Given the description of an element on the screen output the (x, y) to click on. 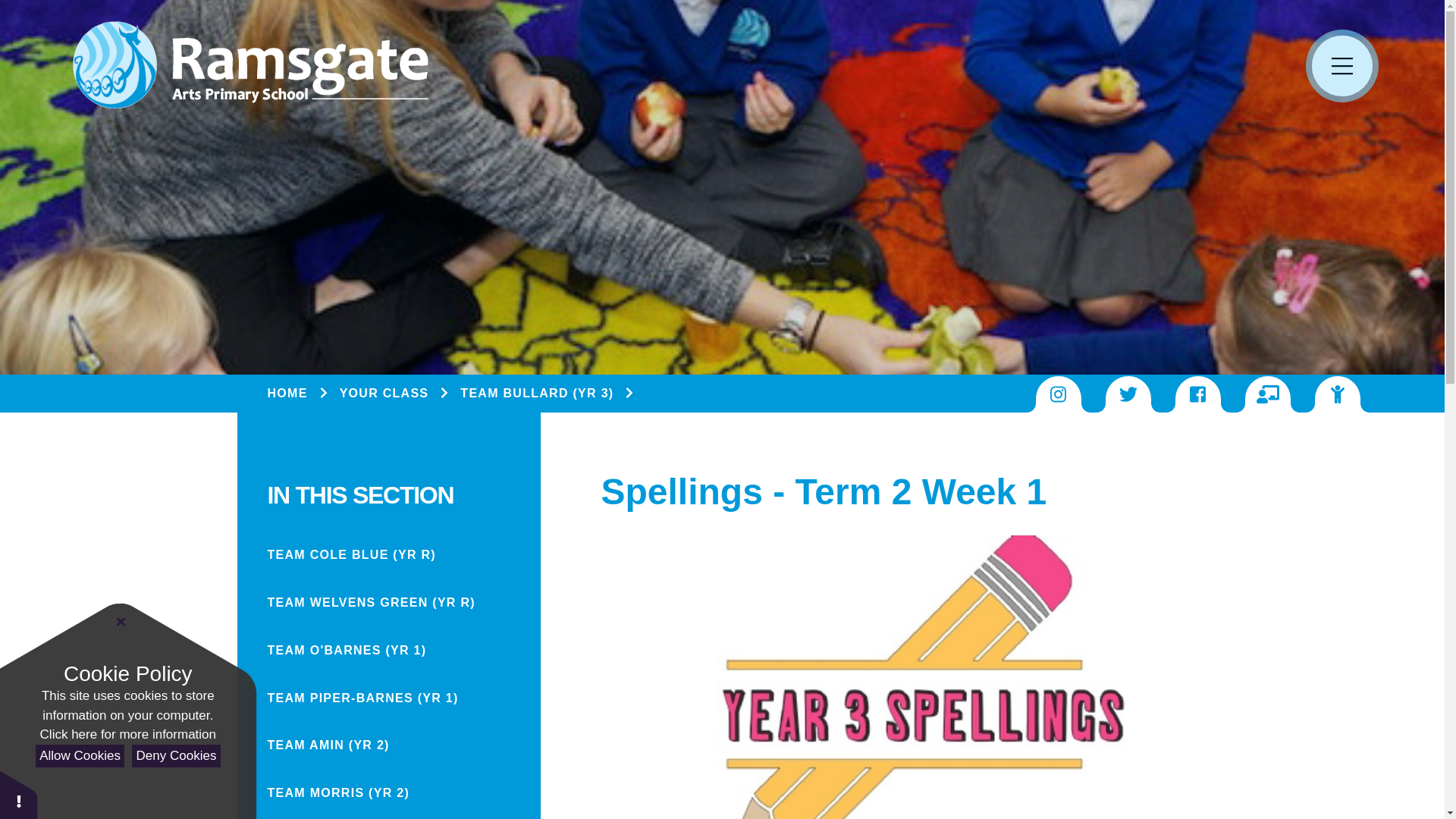
Deny Cookies (175, 756)
See cookie policy (127, 734)
Allow Cookies (78, 756)
